Given the description of an element on the screen output the (x, y) to click on. 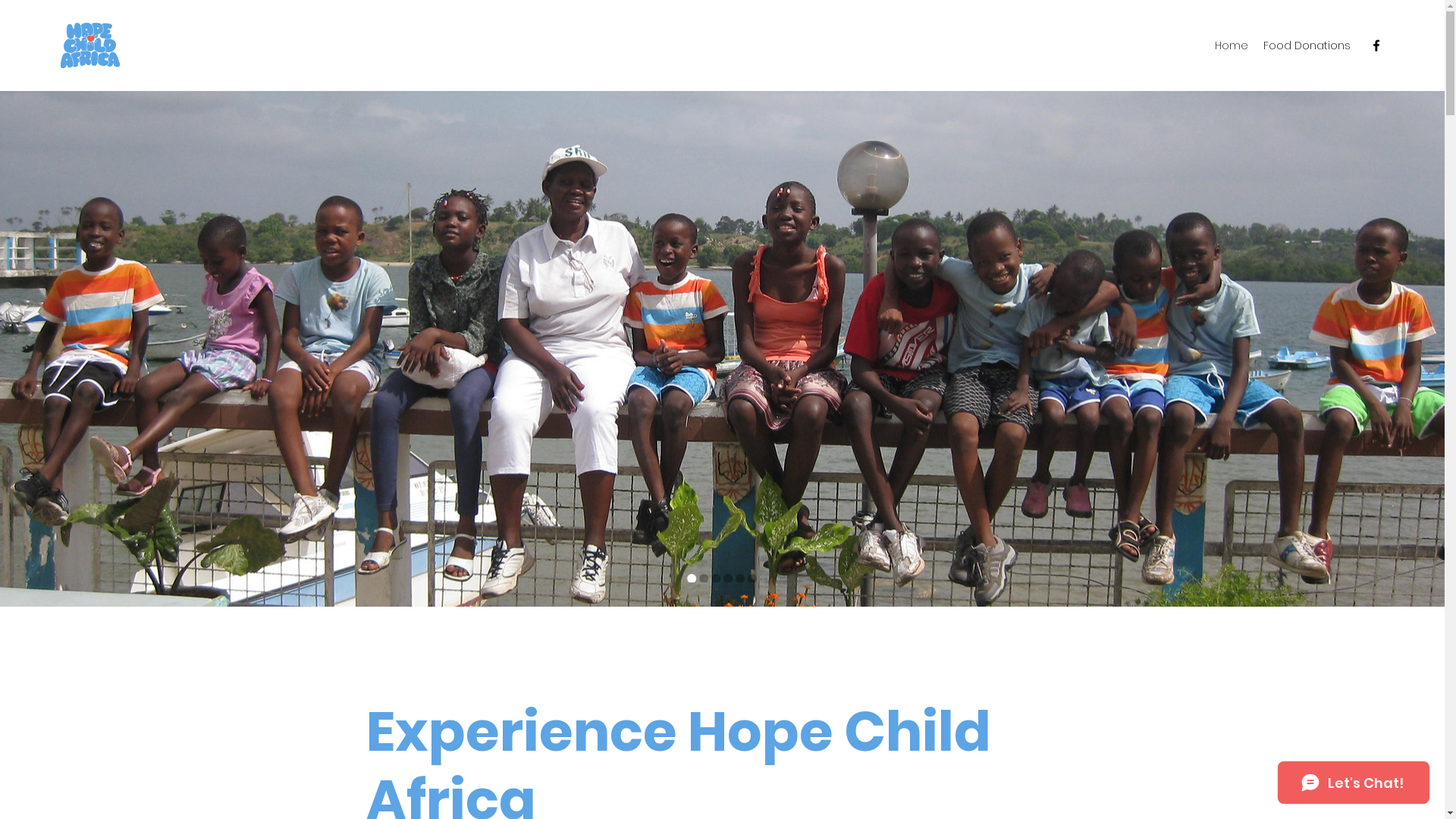
Home Element type: text (1231, 45)
Food Donations Element type: text (1306, 45)
